Given the description of an element on the screen output the (x, y) to click on. 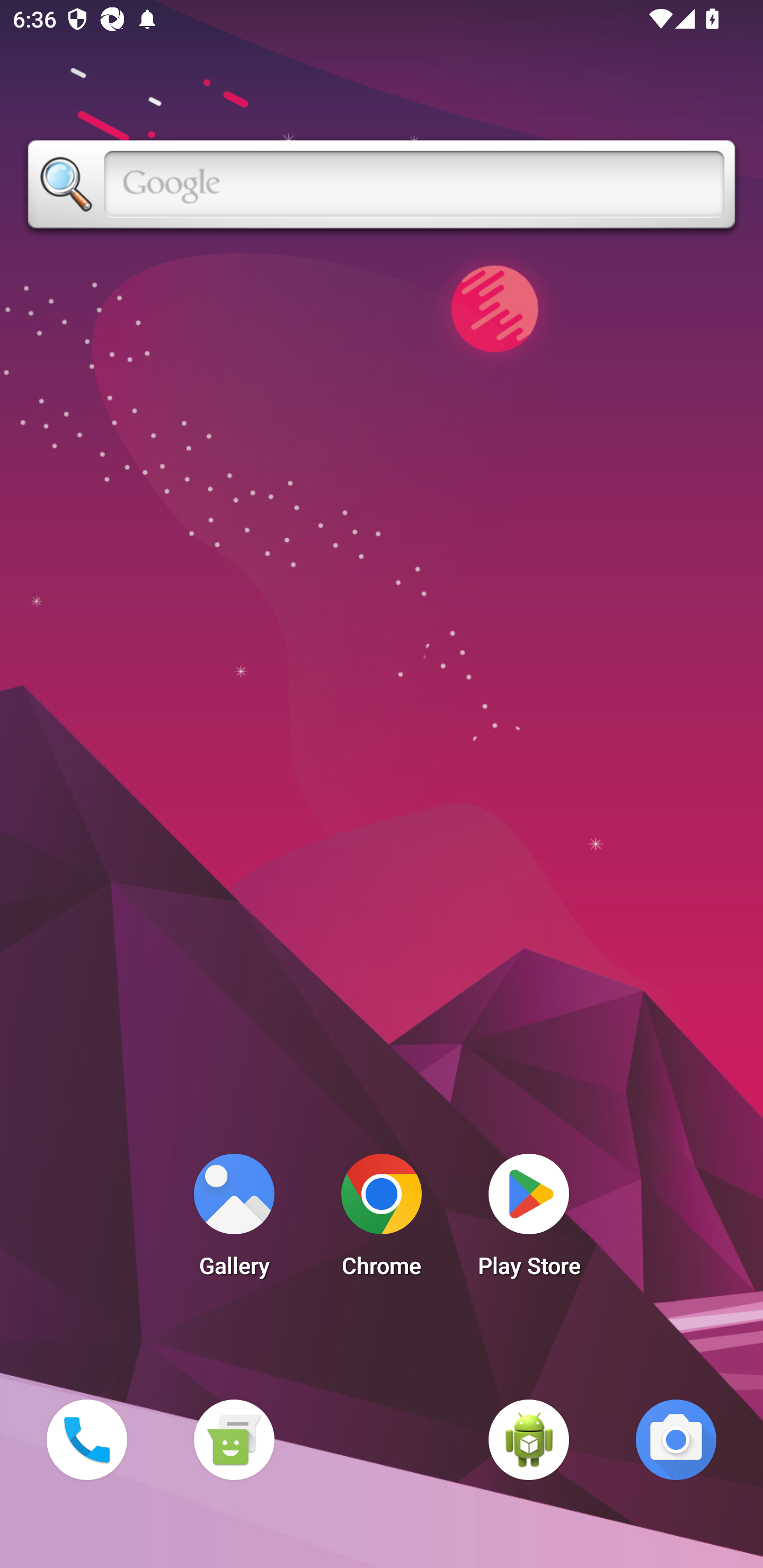
Gallery (233, 1220)
Chrome (381, 1220)
Play Store (528, 1220)
Phone (86, 1439)
Messaging (233, 1439)
WebView Browser Tester (528, 1439)
Camera (676, 1439)
